Given the description of an element on the screen output the (x, y) to click on. 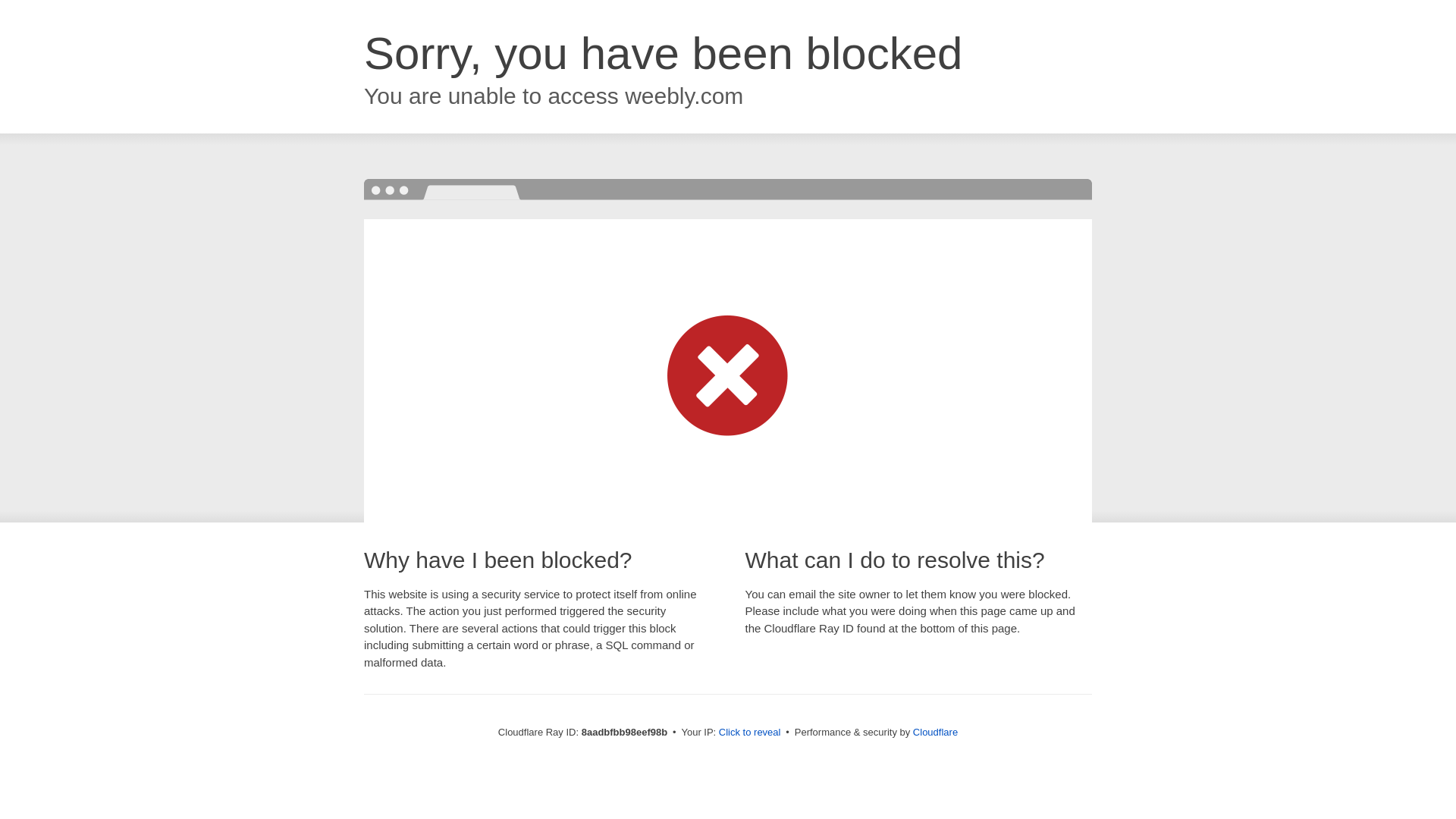
Cloudflare (935, 731)
Click to reveal (749, 732)
